Given the description of an element on the screen output the (x, y) to click on. 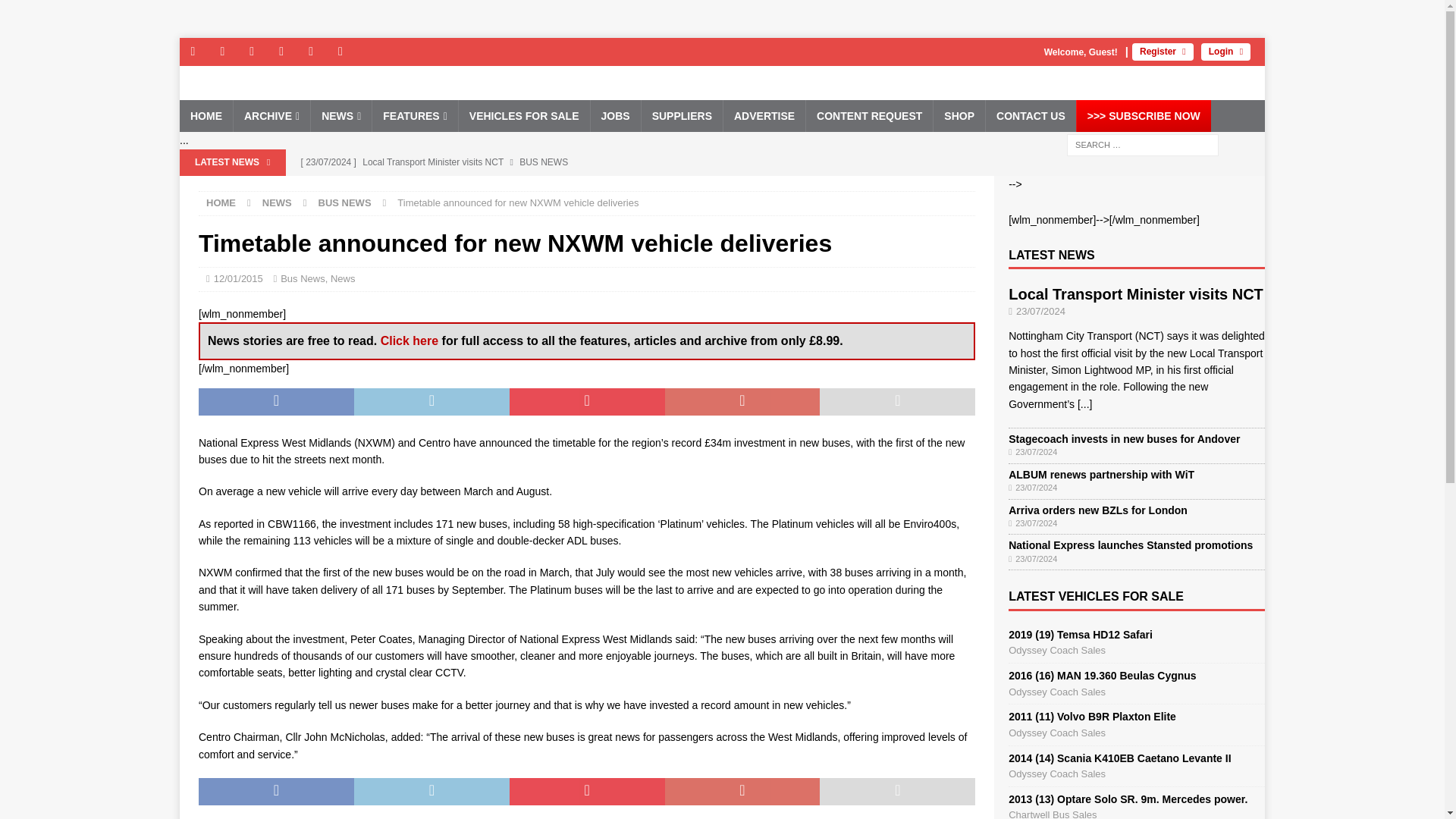
Login (1225, 51)
HOME (205, 115)
SUPPLIERS (681, 115)
NEWS (340, 115)
CONTACT US (1030, 115)
ADVERTISE (763, 115)
Register (1162, 51)
Local Transport Minister visits NCT (589, 162)
VEHICLES FOR SALE (523, 115)
SHOP (959, 115)
JOBS (614, 115)
Stagecoach invests in new buses for Andover (589, 187)
FEATURES (414, 115)
ARCHIVE (271, 115)
CONTENT REQUEST (869, 115)
